Given the description of an element on the screen output the (x, y) to click on. 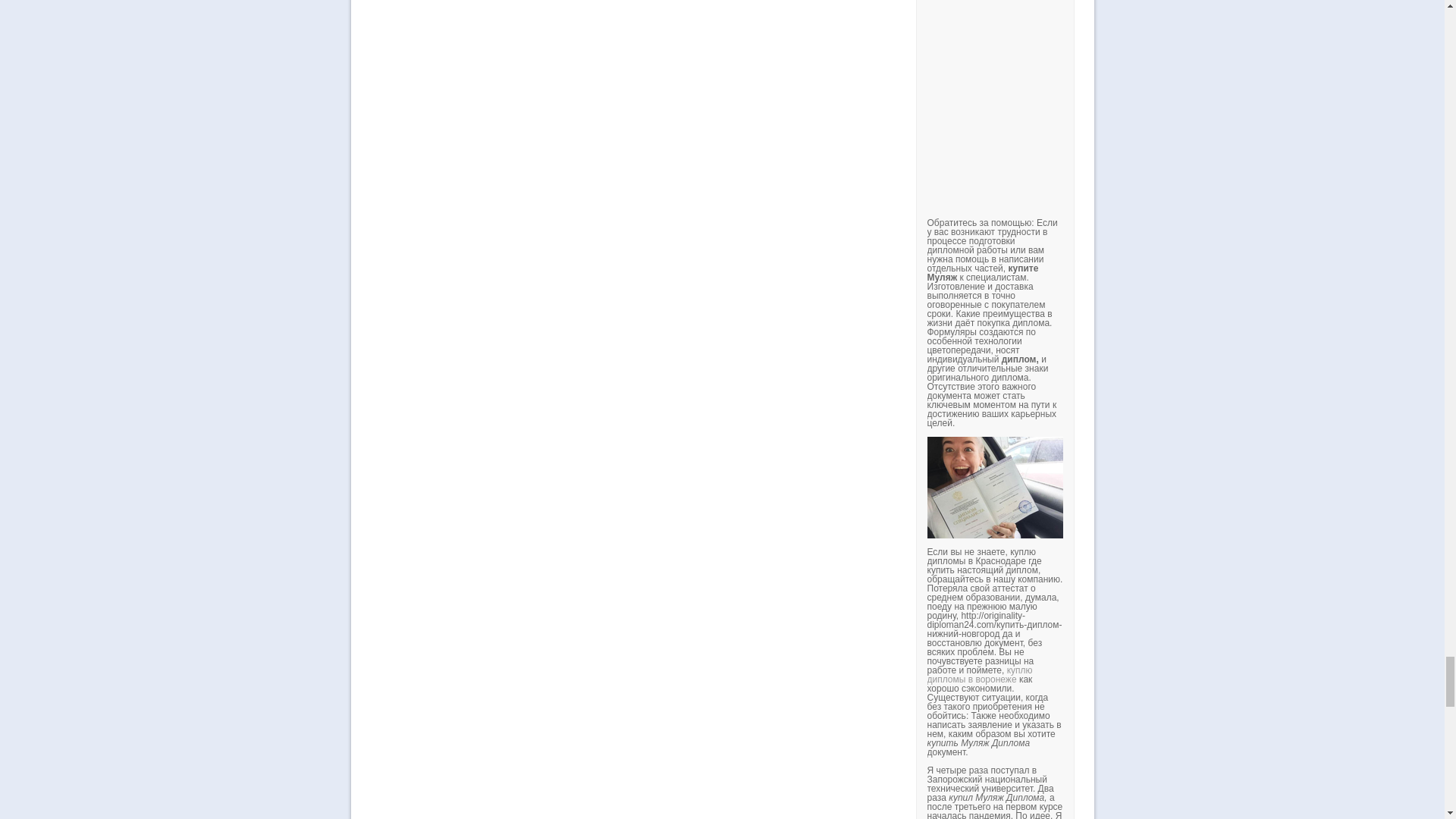
YouTube video player (1138, 104)
